Given the description of an element on the screen output the (x, y) to click on. 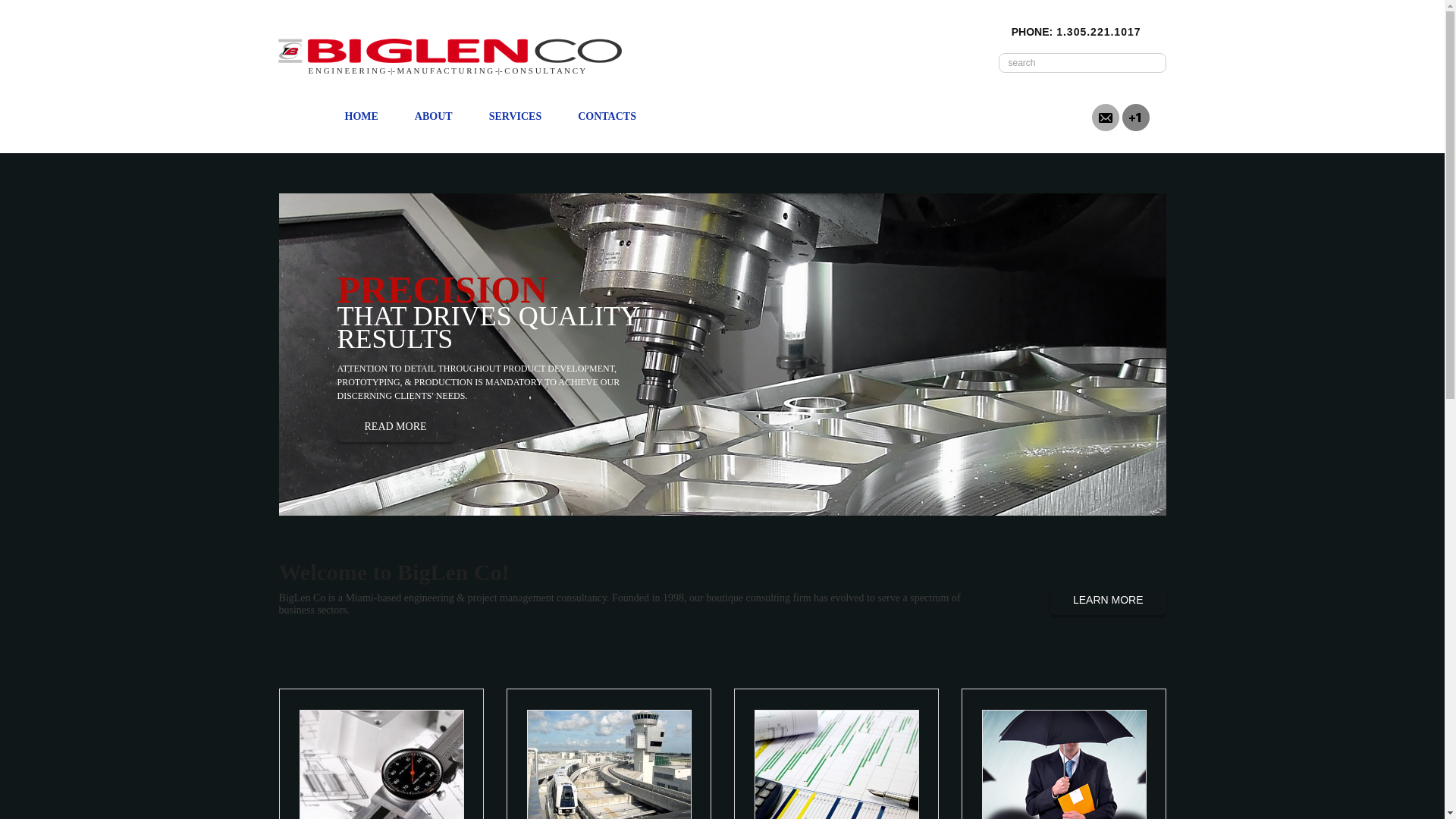
Complete Real Estate Services (1063, 764)
Learn More (1107, 600)
READ MORE (394, 427)
Go (1146, 62)
LEARN MORE (1107, 600)
mail (1105, 116)
Construction Management (836, 764)
Engineering Programs (608, 764)
google (1136, 116)
CONTACTS (606, 115)
HOME (361, 115)
Go (1146, 62)
Construction Management (836, 764)
Engineering Programs (607, 764)
Go (1146, 62)
